Given the description of an element on the screen output the (x, y) to click on. 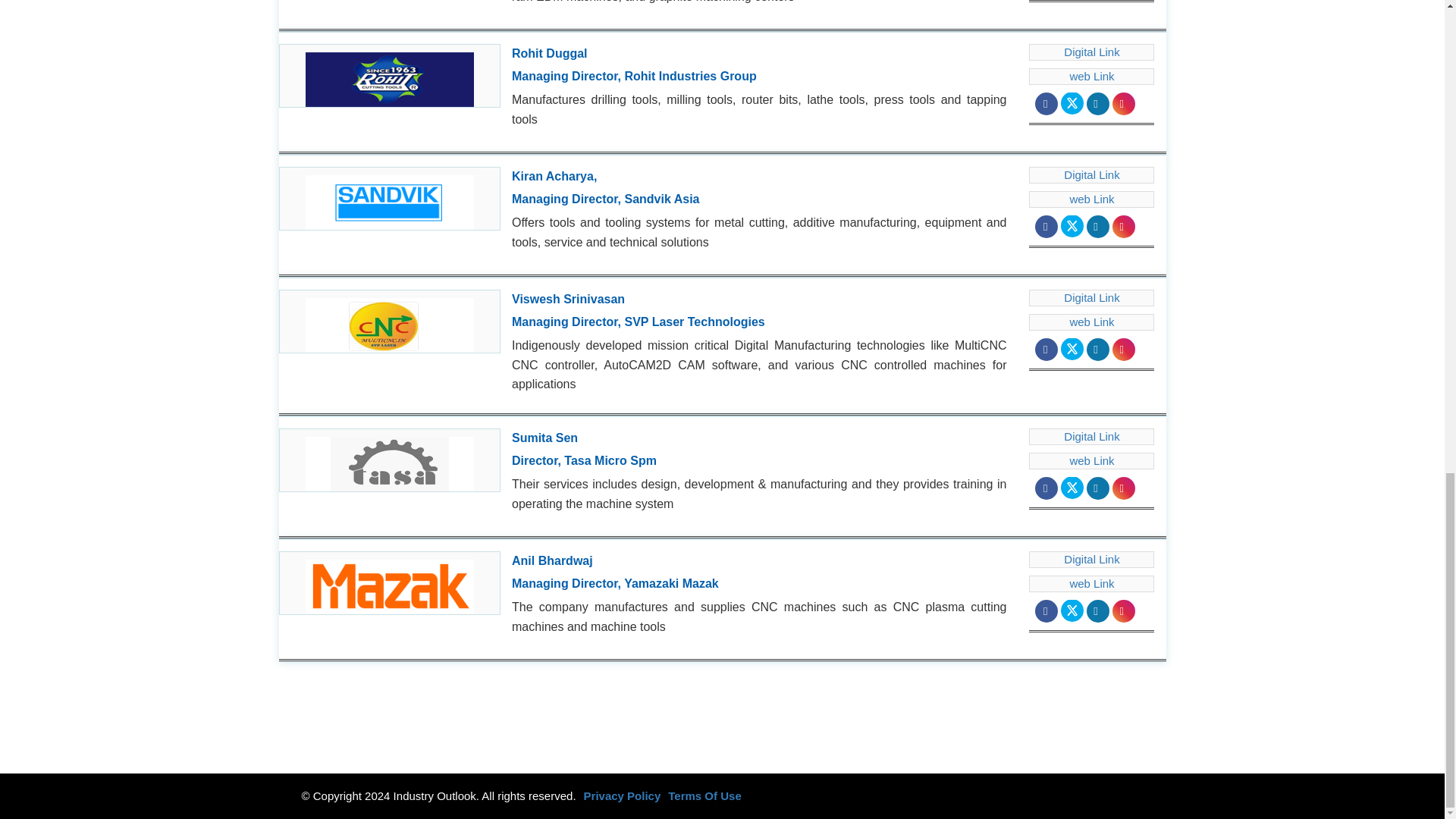
SVP Laser Technologies (389, 321)
Yamazaki Mazak (389, 583)
Rohit Industries Group (389, 76)
Sandvik Asia (389, 198)
Tasa Micro Spm (389, 460)
